Given the description of an element on the screen output the (x, y) to click on. 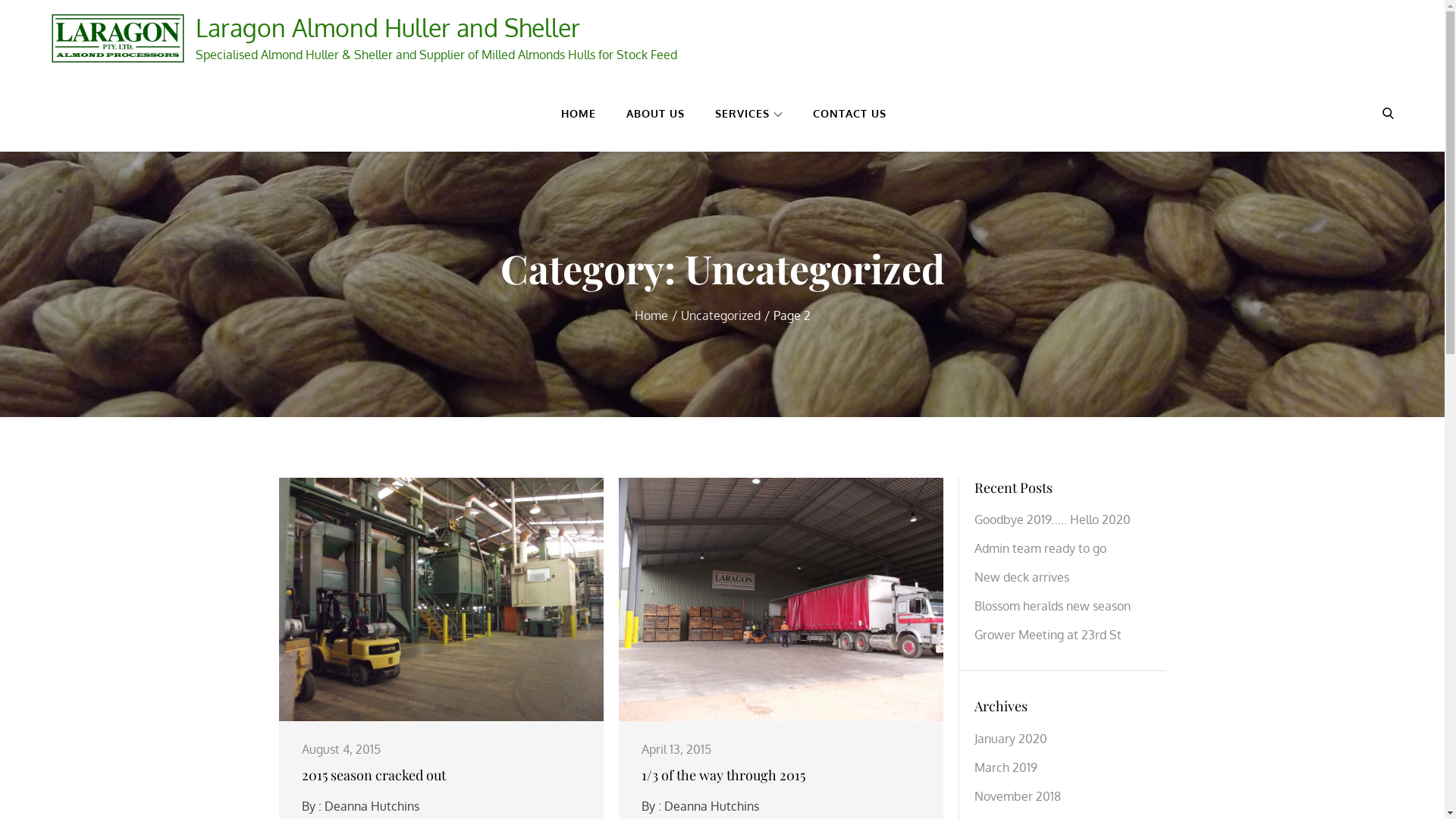
April 13, 2015 Element type: text (676, 748)
Home Element type: text (650, 315)
Grower Meeting at 23rd St Element type: text (1046, 634)
ABOUT US Element type: text (655, 113)
August 4, 2015 Element type: text (340, 748)
January 2020 Element type: text (1009, 738)
SERVICES Element type: text (748, 113)
2015 season cracked out Element type: text (373, 774)
HOME Element type: text (578, 113)
Laragon Almond Huller and Sheller Element type: text (387, 27)
New deck arrives Element type: text (1020, 576)
Deanna Hutchins Element type: text (371, 805)
Skip to content Element type: text (0, 0)
CONTACT US Element type: text (849, 113)
November 2018 Element type: text (1016, 795)
1/3 of the way through 2015 Element type: text (723, 774)
Admin team ready to go Element type: text (1039, 547)
Search Element type: text (1387, 111)
Uncategorized Element type: text (720, 315)
Blossom heralds new season Element type: text (1051, 605)
Deanna Hutchins Element type: text (711, 805)
March 2019 Element type: text (1004, 767)
